Given the description of an element on the screen output the (x, y) to click on. 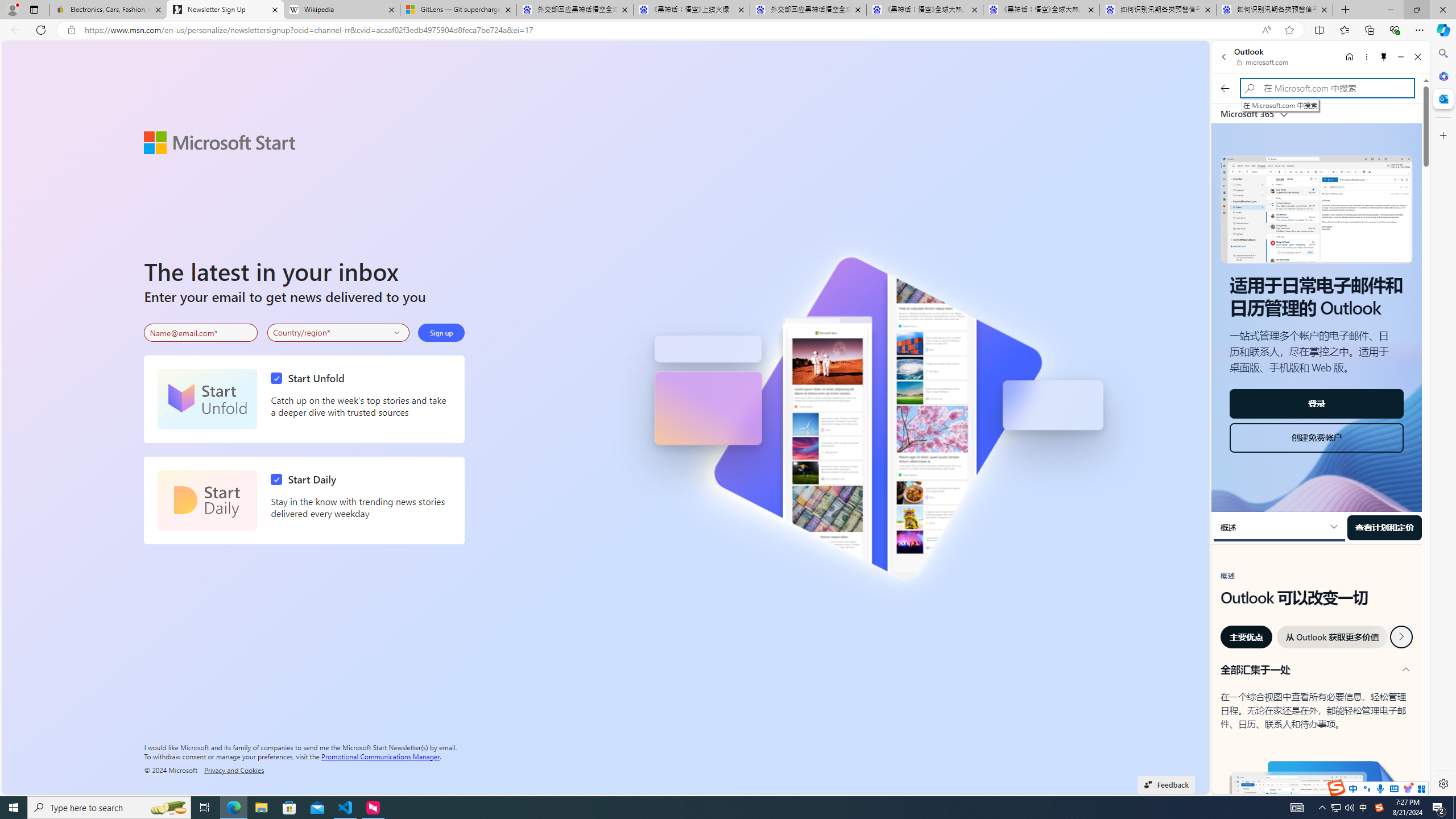
Wikipedia (341, 9)
Add this page to favorites (Ctrl+D) (1289, 29)
Collections (1369, 29)
Newsletter Sign Up (224, 9)
microsoft.com (1263, 61)
Settings (1442, 783)
Start Unfold (310, 378)
Split screen (1318, 29)
Search (1442, 53)
Address and search bar (669, 29)
Side bar (1443, 418)
Back (1223, 56)
